Given the description of an element on the screen output the (x, y) to click on. 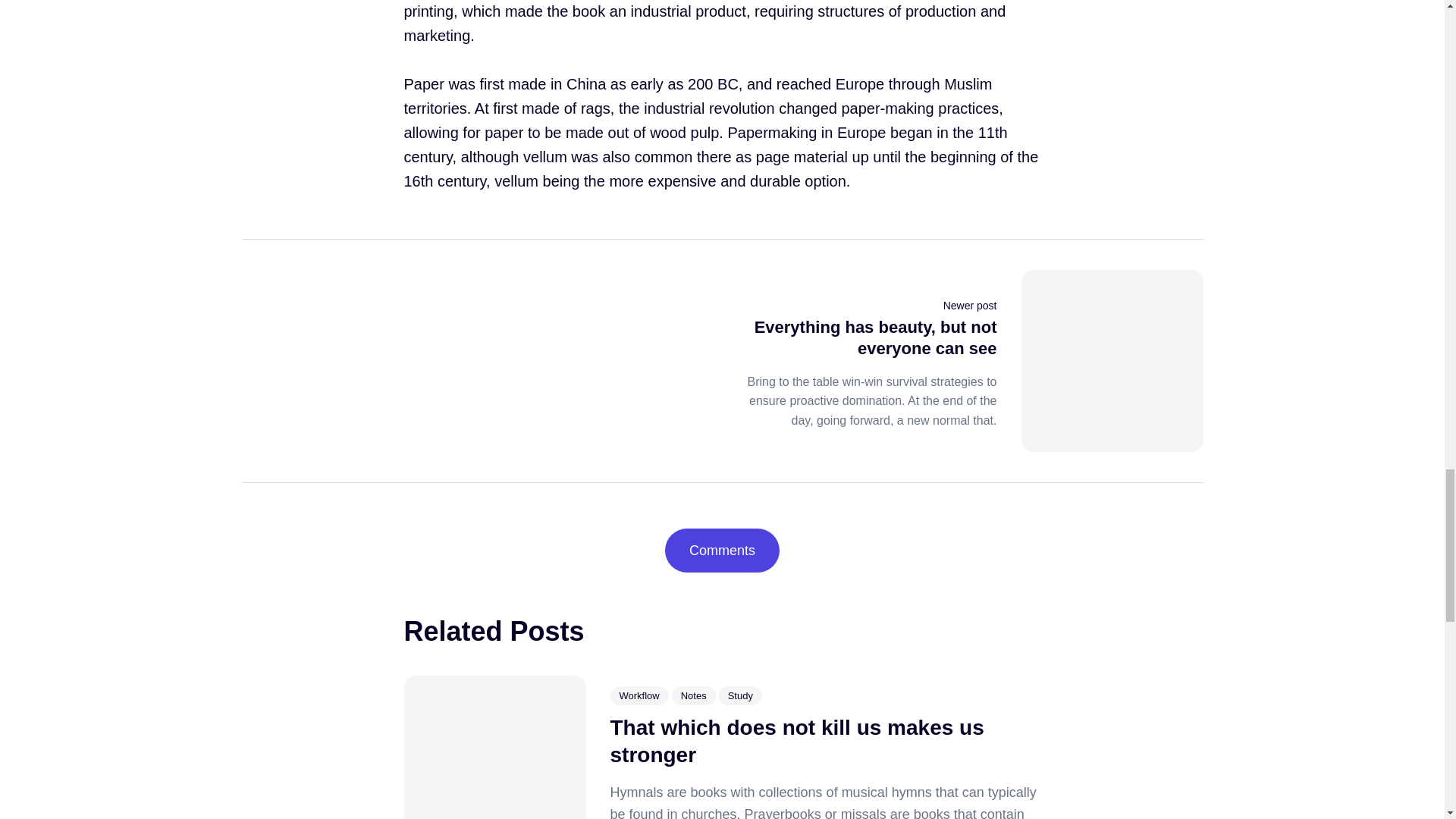
Comments (721, 550)
That which does not kill us makes us stronger (797, 740)
Study (740, 695)
Workflow (639, 695)
Notes (693, 695)
Everything has beauty, but not everyone can see (875, 337)
